Given the description of an element on the screen output the (x, y) to click on. 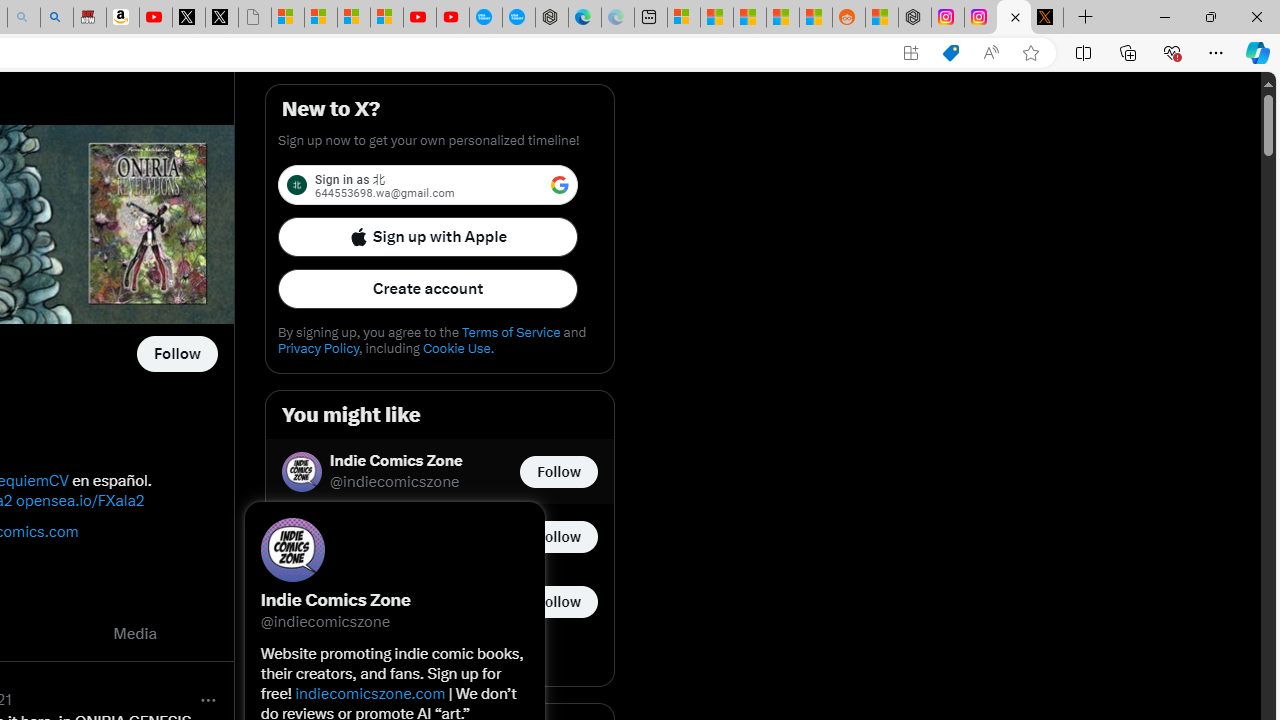
Dean Robert Willetts (405, 526)
West Wind (@westwindcomics) / X (1014, 17)
Indie Comics Zone (396, 461)
App available. Install X (910, 53)
YouTube Kids - An App Created for Kids to Explore Content (452, 17)
@speakcomix (378, 611)
The most popular Google 'how to' searches (519, 17)
